Given the description of an element on the screen output the (x, y) to click on. 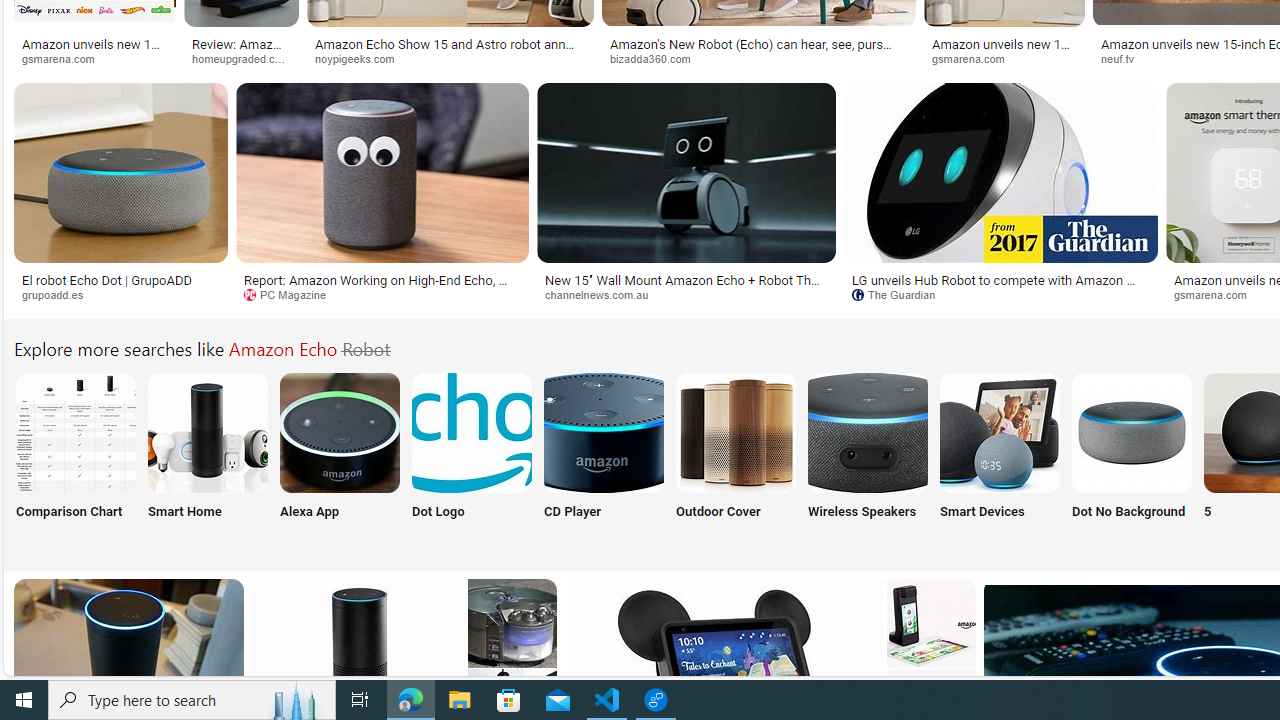
bizadda360.com (657, 57)
Image result for Amazon Echo Robot (931, 623)
Smart Home (207, 457)
Amazon Echo Show 15 and Astro robot announced | NoypiGeeks (450, 50)
Dot Logo (472, 457)
Amazon Echo with CD Player CD Player (604, 458)
Amazon Echo with CD Player (604, 432)
Amazon Echo Outdoor Cover (735, 432)
Amazon Echo Dot Photo No Background Dot No Background (1131, 458)
The Guardian (1000, 295)
Amazon Echo Smart Devices Smart Devices (999, 458)
Outdoor Cover (735, 457)
Amazon Echo Wireless Speakers Wireless Speakers (867, 458)
Amazon Echo Comparison Chart Comparison Chart (75, 458)
